Given the description of an element on the screen output the (x, y) to click on. 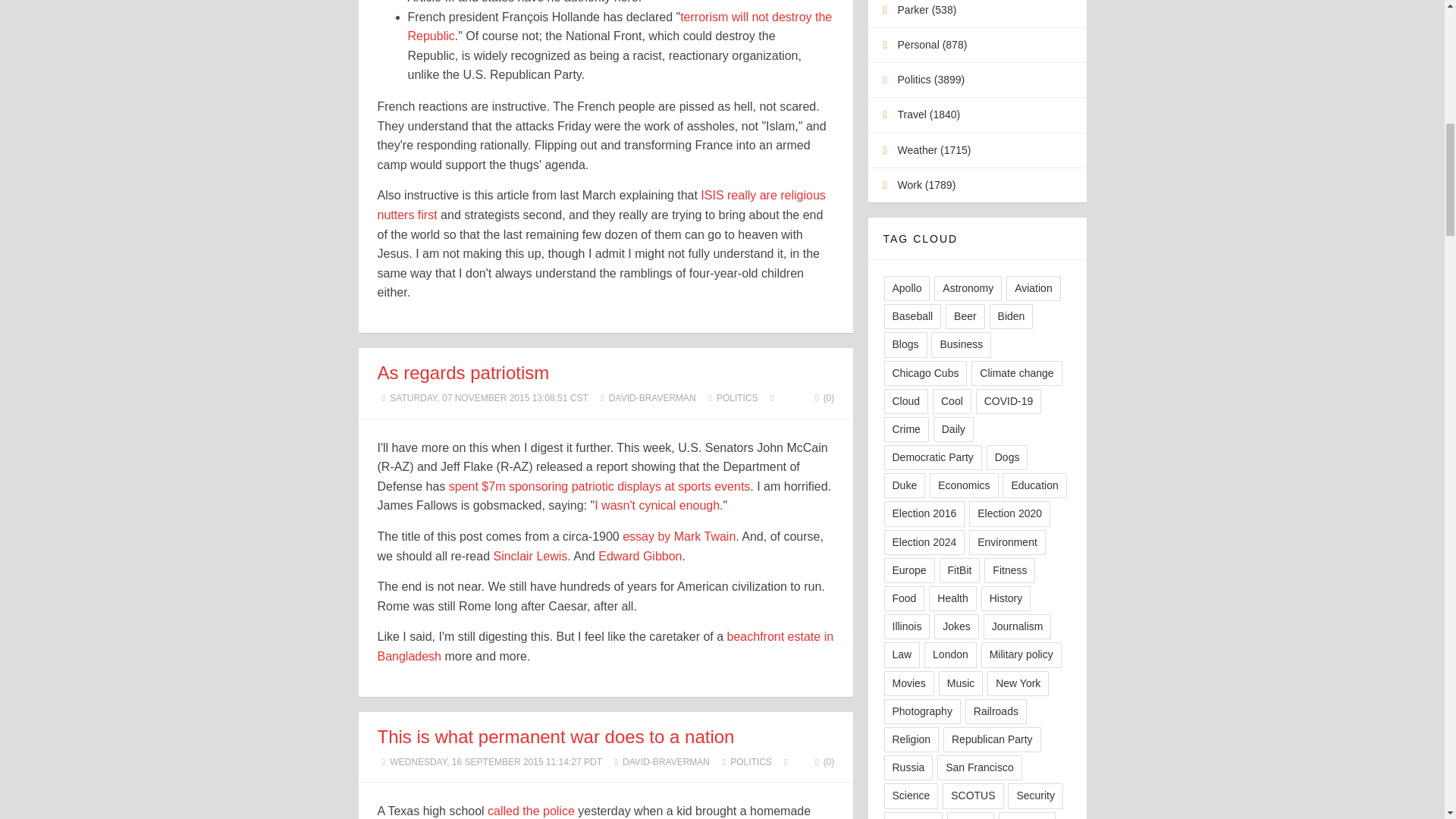
POLITICS (737, 398)
DAVID-BRAVERMAN (651, 398)
This is what permanent war does to a nation (556, 736)
essay by Mark Twain (679, 535)
terrorism will not destroy the Republic (619, 26)
DAVID-BRAVERMAN (666, 761)
Sinclair Lewis (530, 555)
Open a map of the location where this post was written (771, 398)
beachfront estate in Bangladesh (605, 645)
Edward Gibbon (639, 555)
